Given the description of an element on the screen output the (x, y) to click on. 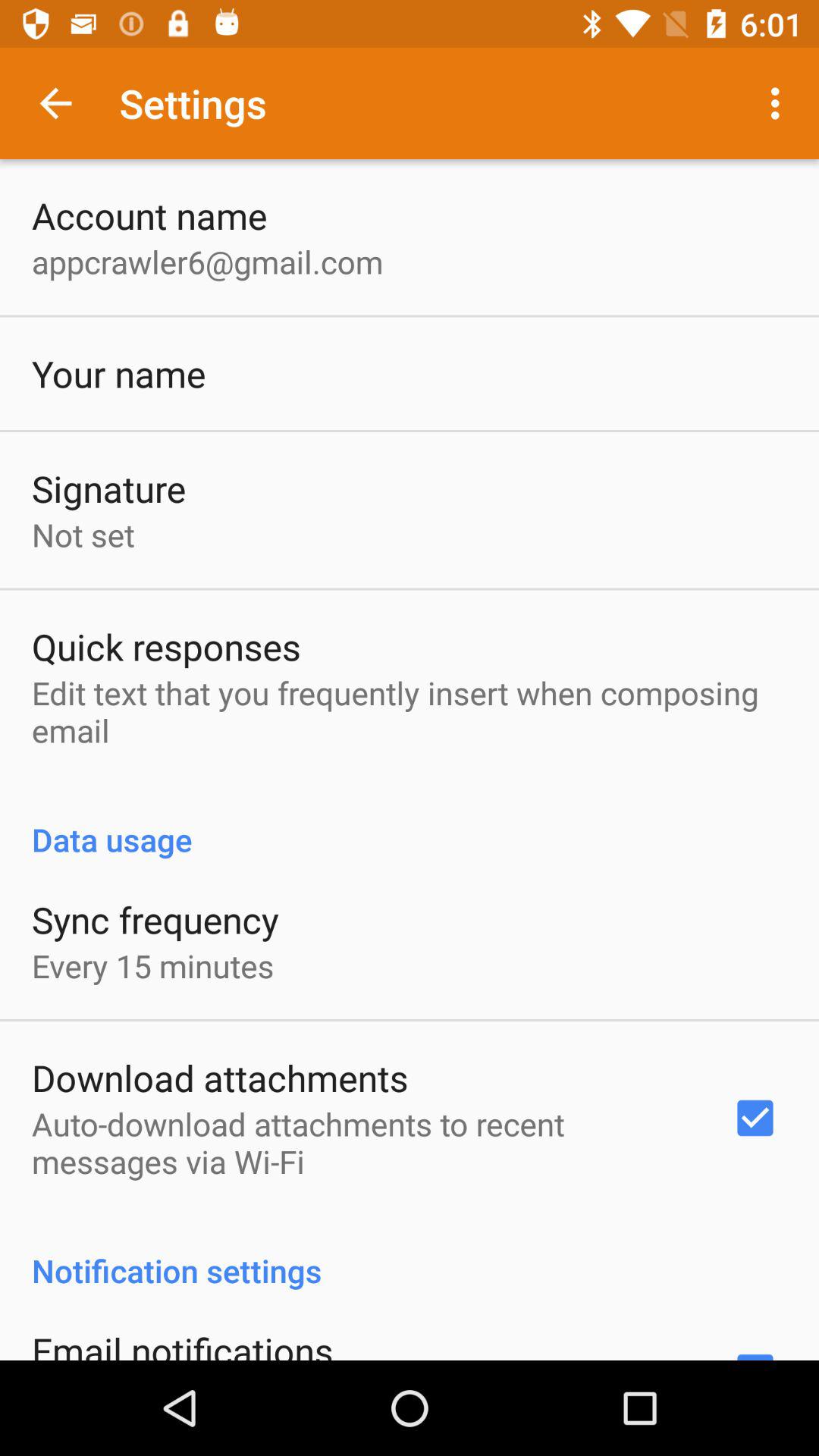
click icon above the account name app (55, 103)
